Given the description of an element on the screen output the (x, y) to click on. 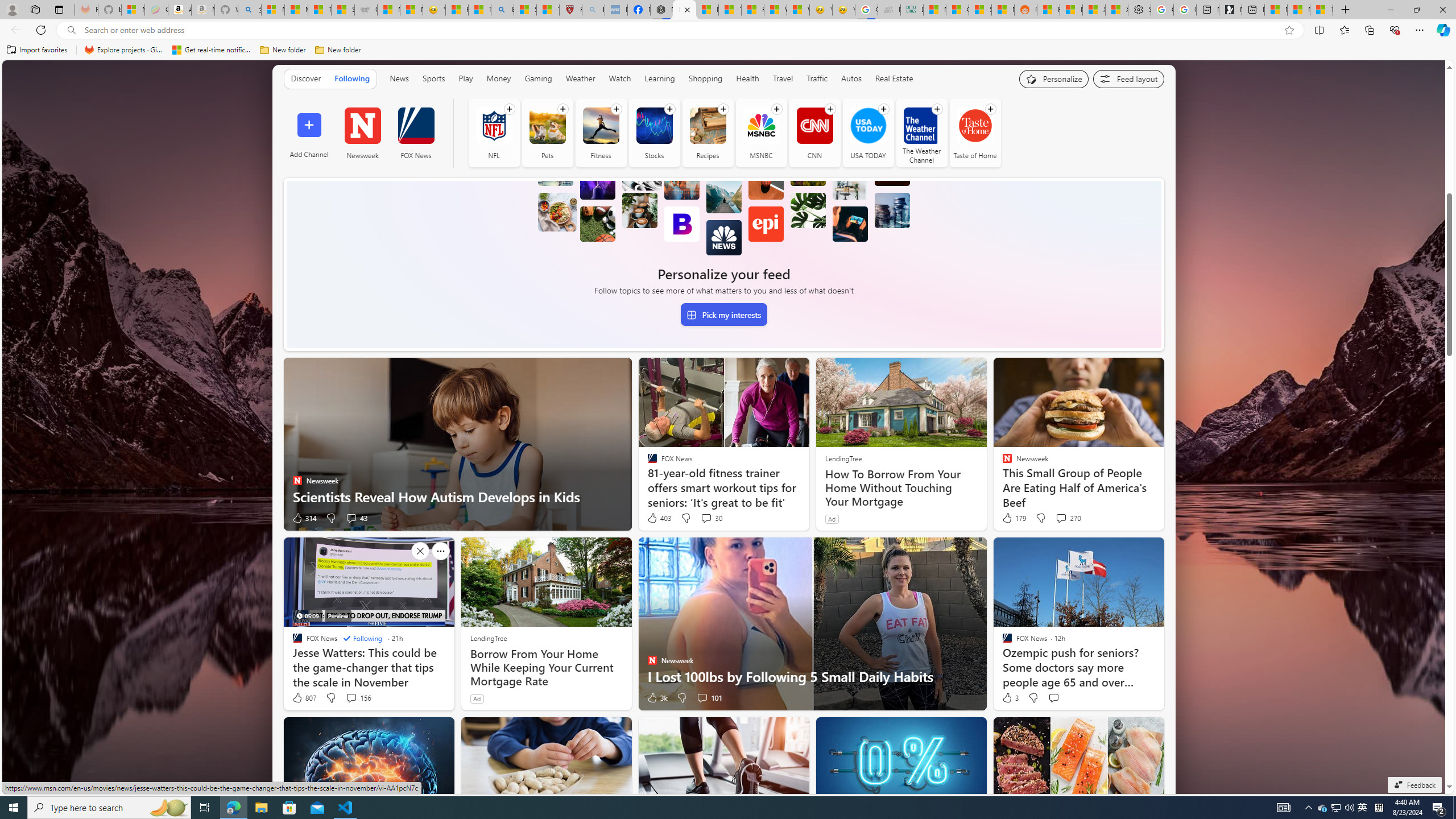
CNN (814, 133)
Pets (547, 125)
Recipes (707, 125)
Follow channel (989, 108)
Autos (850, 79)
Shopping (705, 79)
